Given the description of an element on the screen output the (x, y) to click on. 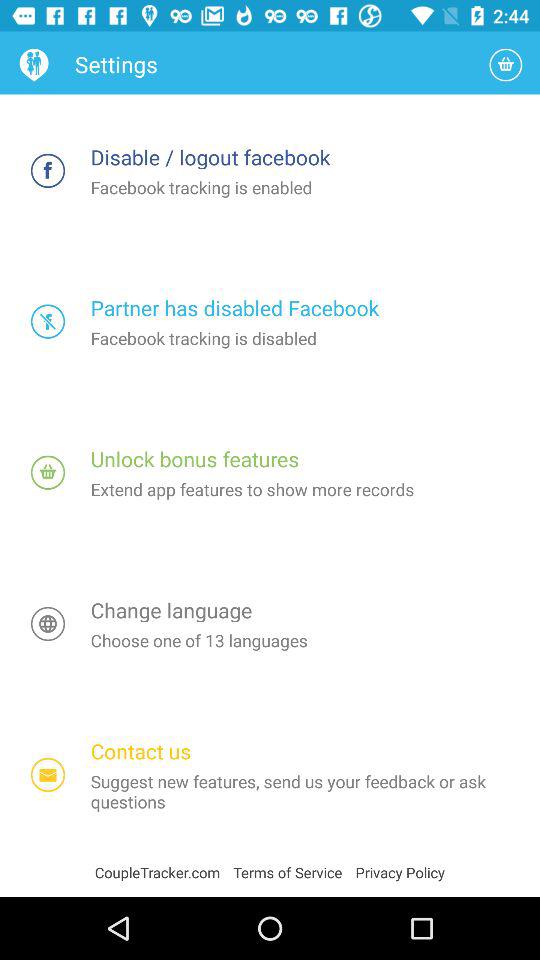
enable or disable facebook (47, 321)
